Given the description of an element on the screen output the (x, y) to click on. 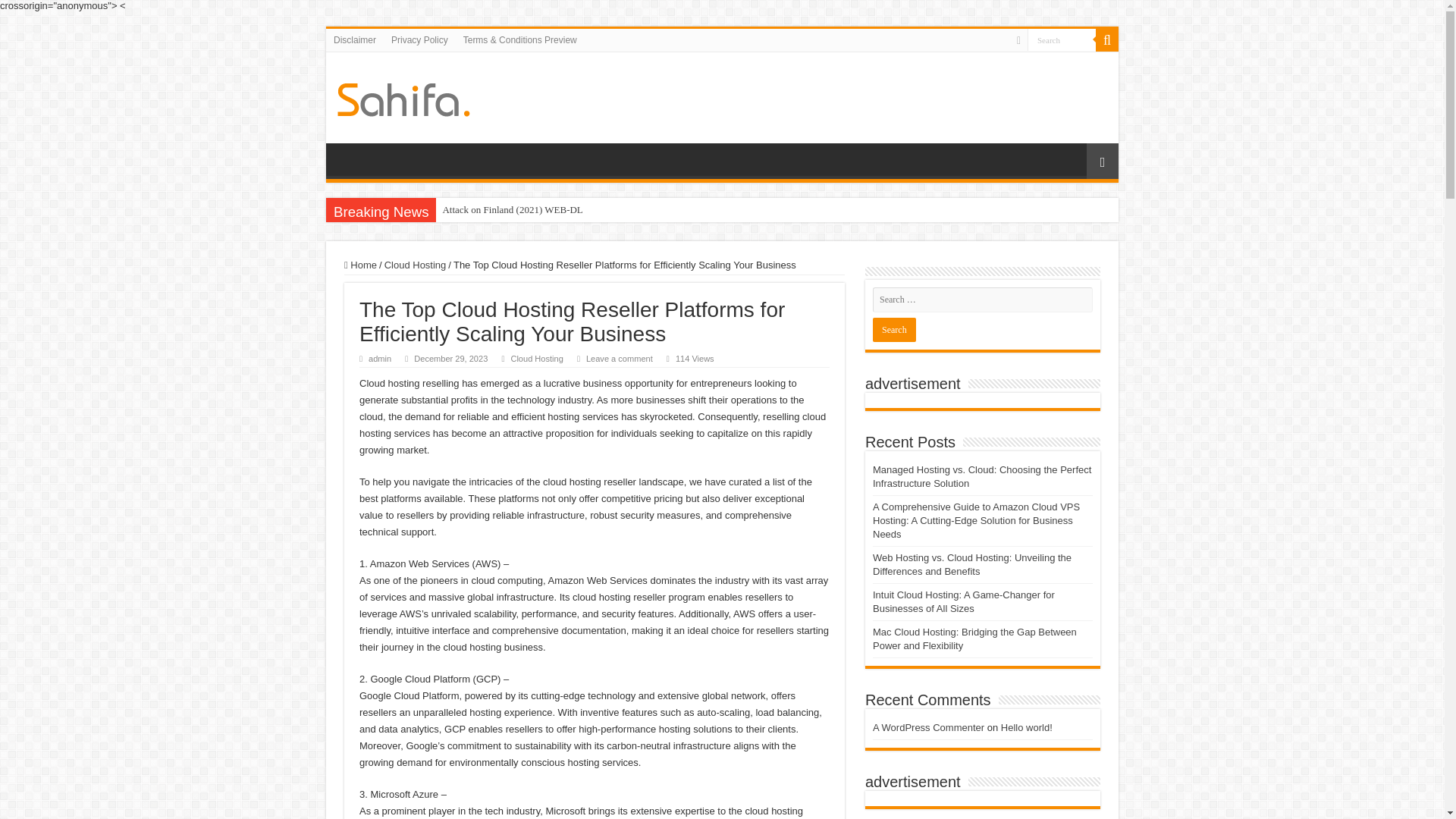
admin (379, 358)
Search (1061, 39)
Cloud Hosting (415, 265)
Disclaimer (355, 39)
Search (1107, 39)
Leave a comment (619, 358)
Search (1061, 39)
CRM (403, 96)
Cloud Hosting (536, 358)
Search (893, 329)
Search (1061, 39)
Search (893, 329)
